Given the description of an element on the screen output the (x, y) to click on. 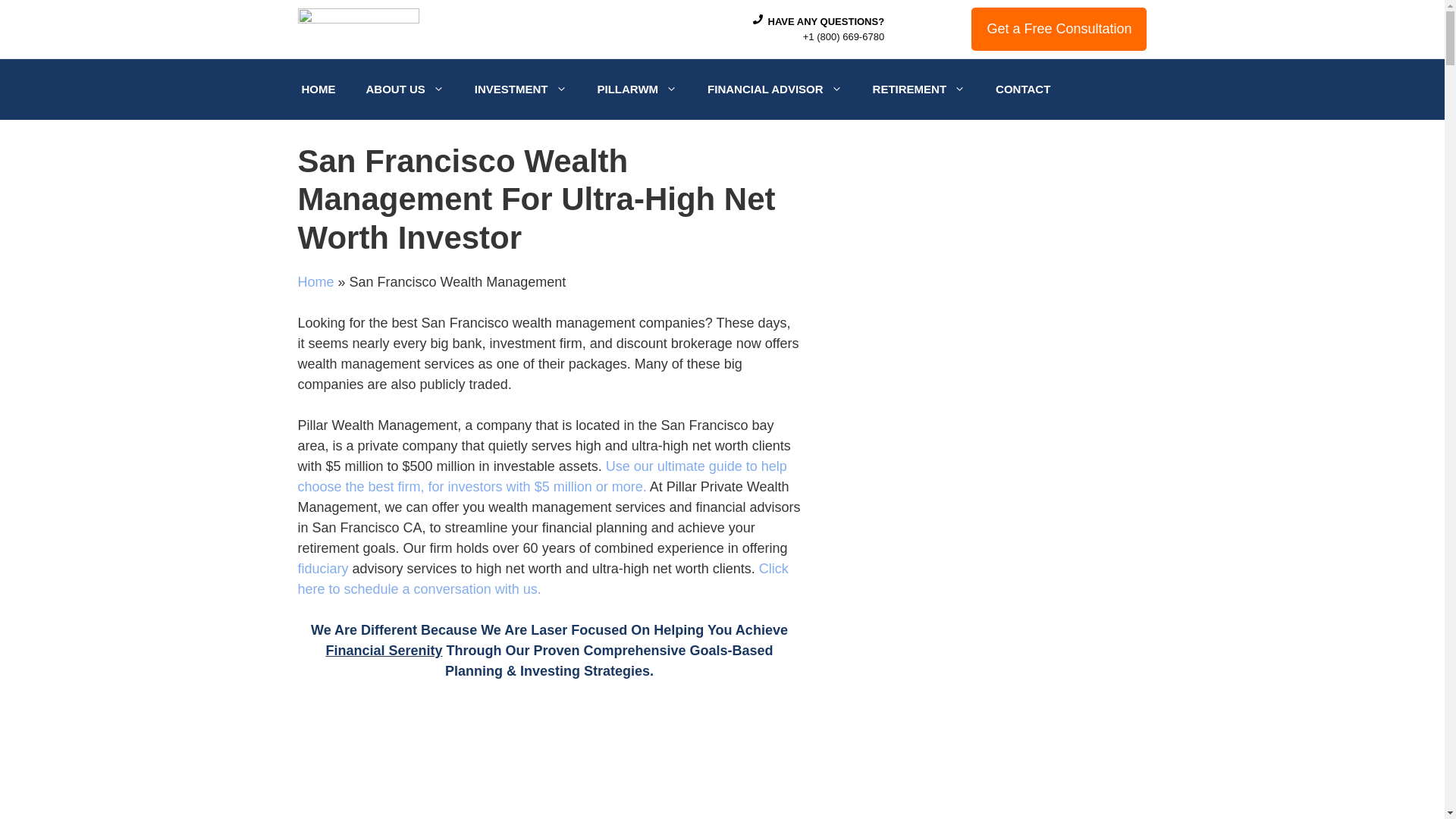
Get a Free Consultation (1059, 28)
HOME (318, 89)
FINANCIAL ADVISOR (775, 89)
RETIREMENT (919, 89)
ABOUT US (404, 89)
INVESTMENT (521, 89)
PILLARWM (637, 89)
fiduciary (322, 568)
